Given the description of an element on the screen output the (x, y) to click on. 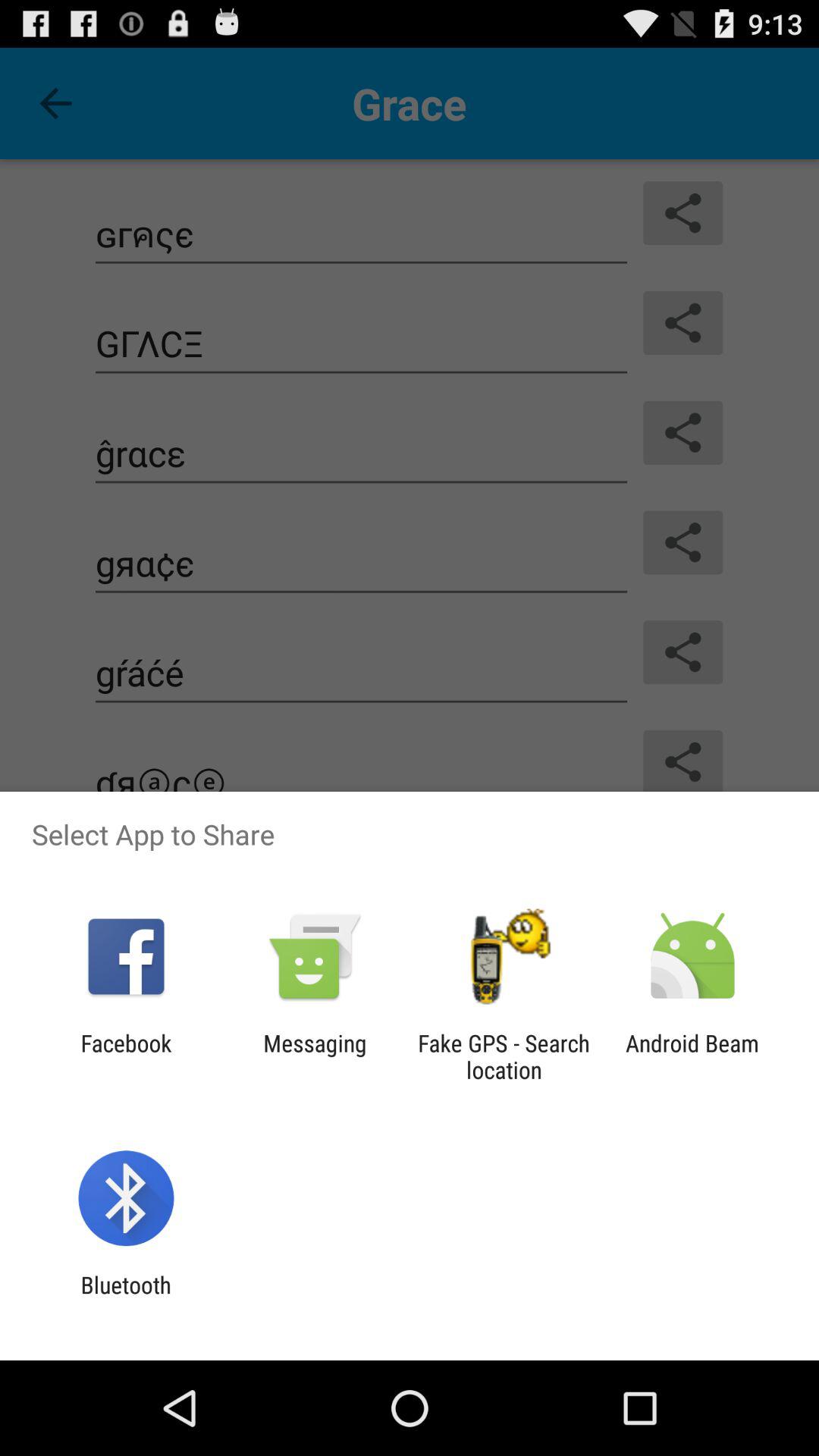
press fake gps search icon (503, 1056)
